Given the description of an element on the screen output the (x, y) to click on. 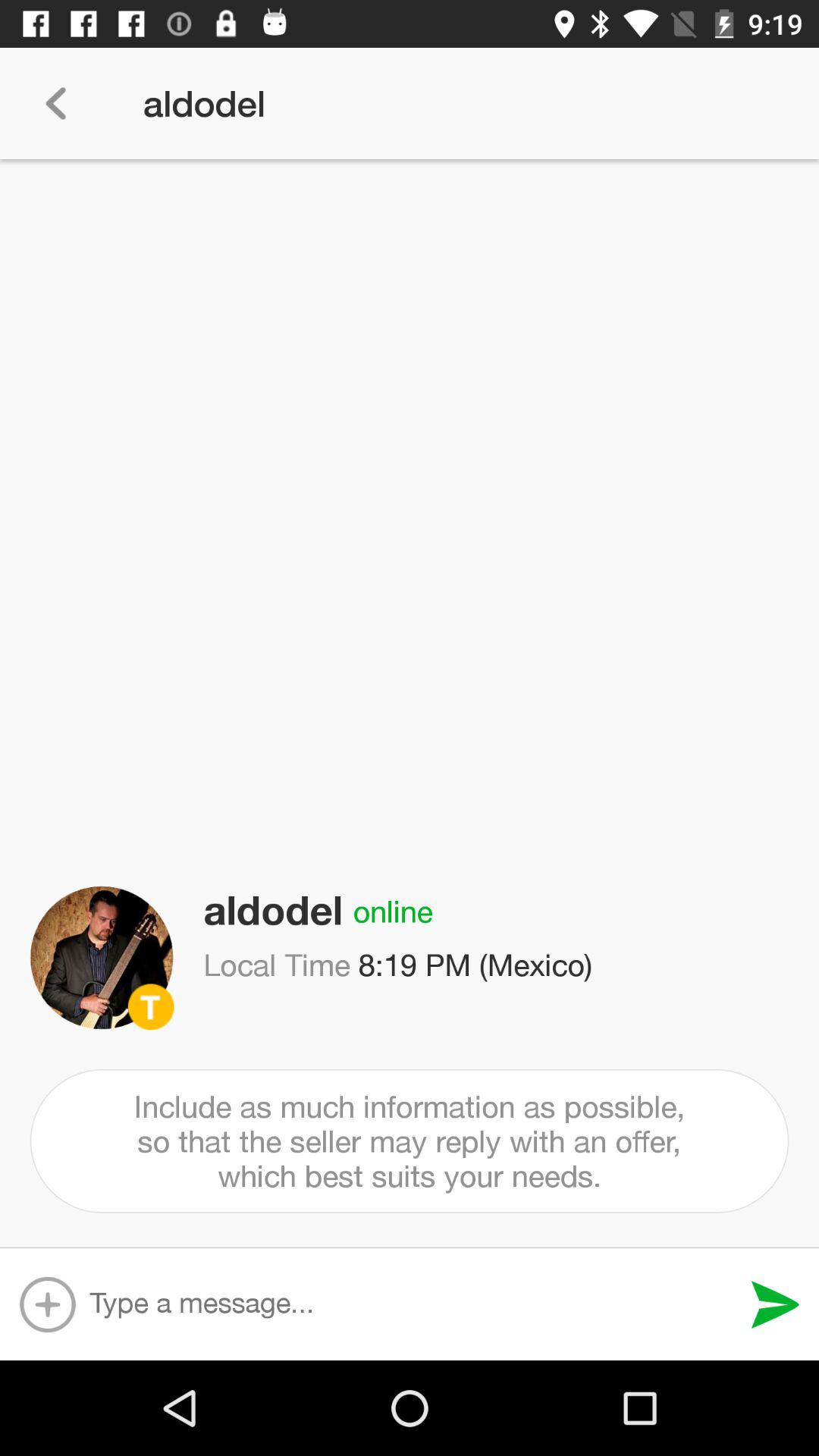
to send message (775, 1304)
